Given the description of an element on the screen output the (x, y) to click on. 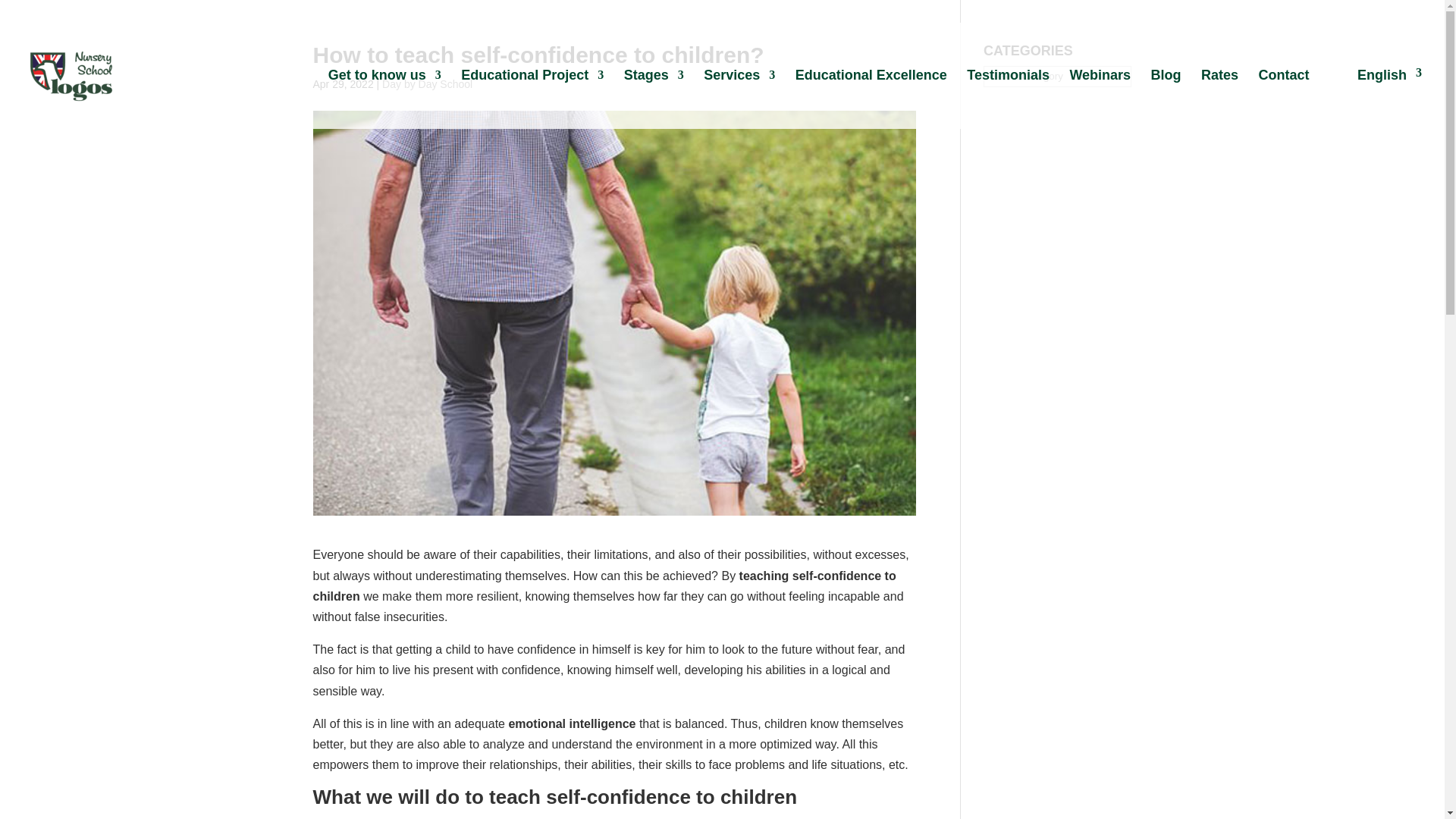
Services (738, 97)
English (1375, 97)
Stages (654, 97)
Contact (1283, 97)
Webinars (1099, 97)
Educational Project (532, 97)
Educational Excellence (870, 97)
Testimonials (1007, 97)
Get to know us (385, 97)
